Given the description of an element on the screen output the (x, y) to click on. 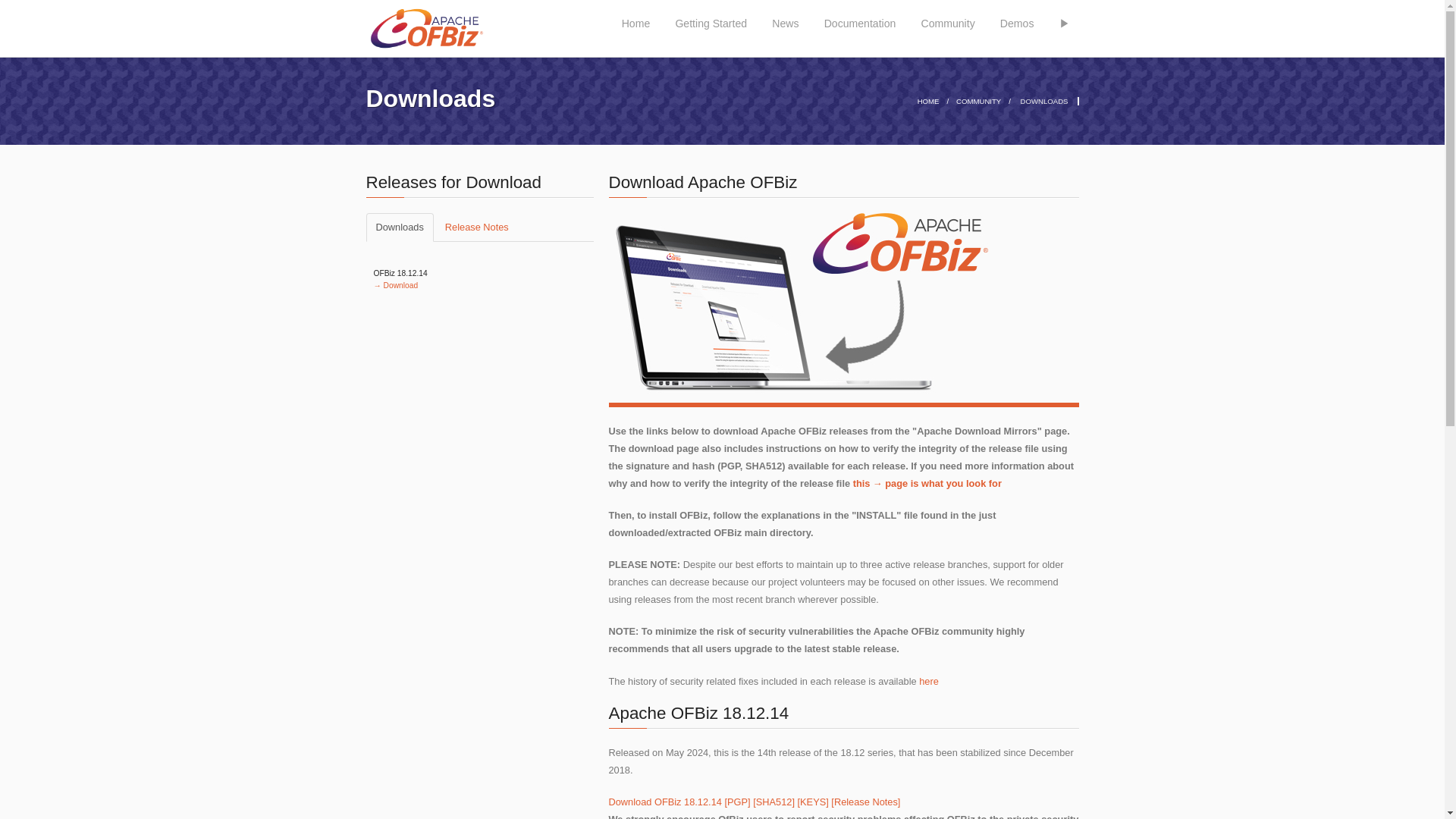
Getting Started (710, 18)
News (785, 18)
Demos (1017, 18)
Community (947, 18)
COMMUNITY (978, 101)
Home (636, 18)
Documentation (860, 18)
Release Notes (476, 226)
HOME (928, 101)
Downloads (398, 226)
